Given the description of an element on the screen output the (x, y) to click on. 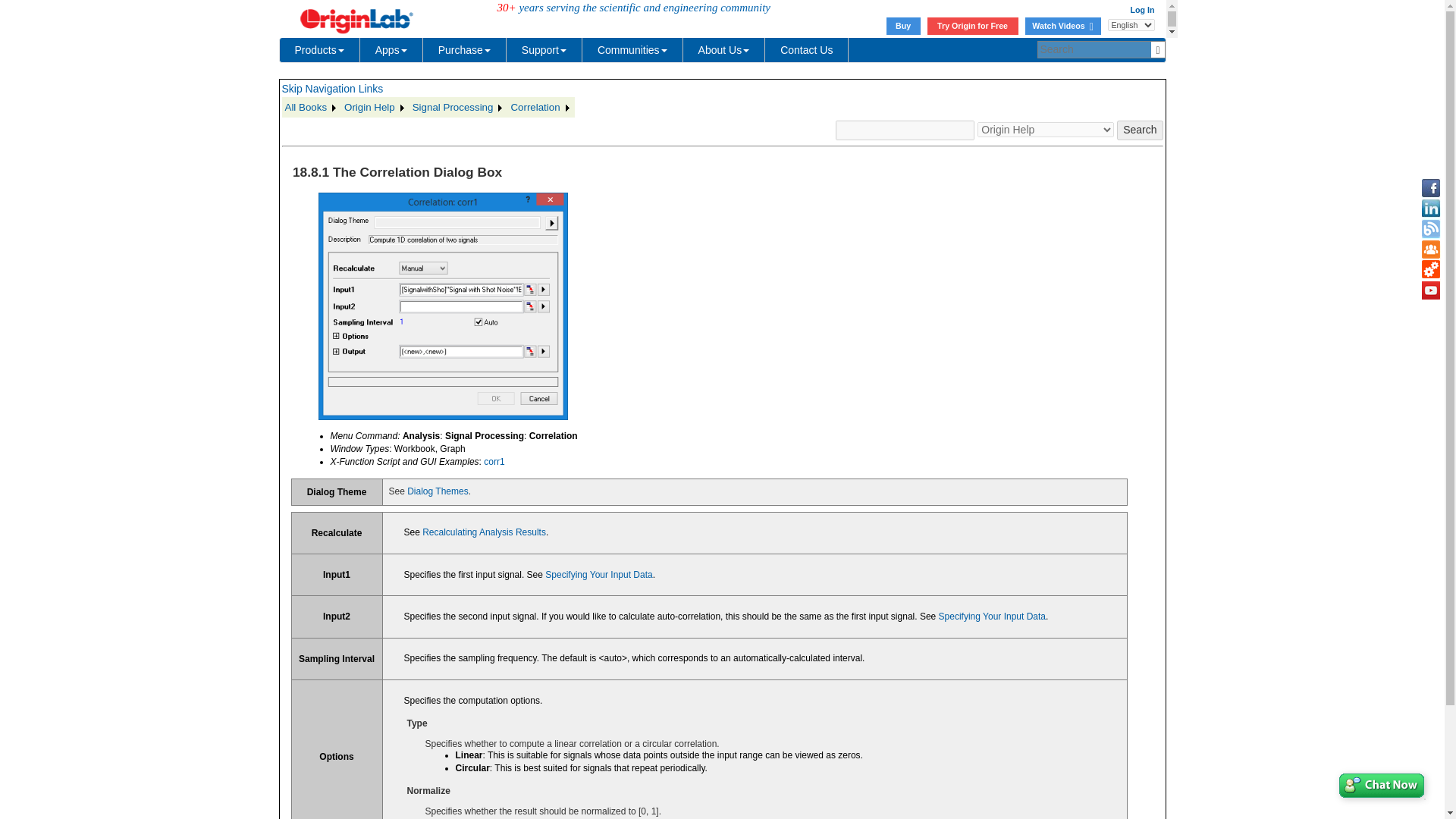
Watch Videos  (1062, 26)
Signal Processing (458, 107)
Youtube (1431, 290)
File Exchange (1431, 270)
Log In (1142, 9)
Forum (1431, 249)
All Books (312, 107)
Search (1138, 130)
Facebook (1431, 188)
Correlation (539, 107)
Buy Now (903, 26)
Products (319, 49)
Try Origin for Free (972, 26)
Origin Help (374, 107)
LinkedIn (1431, 208)
